Given the description of an element on the screen output the (x, y) to click on. 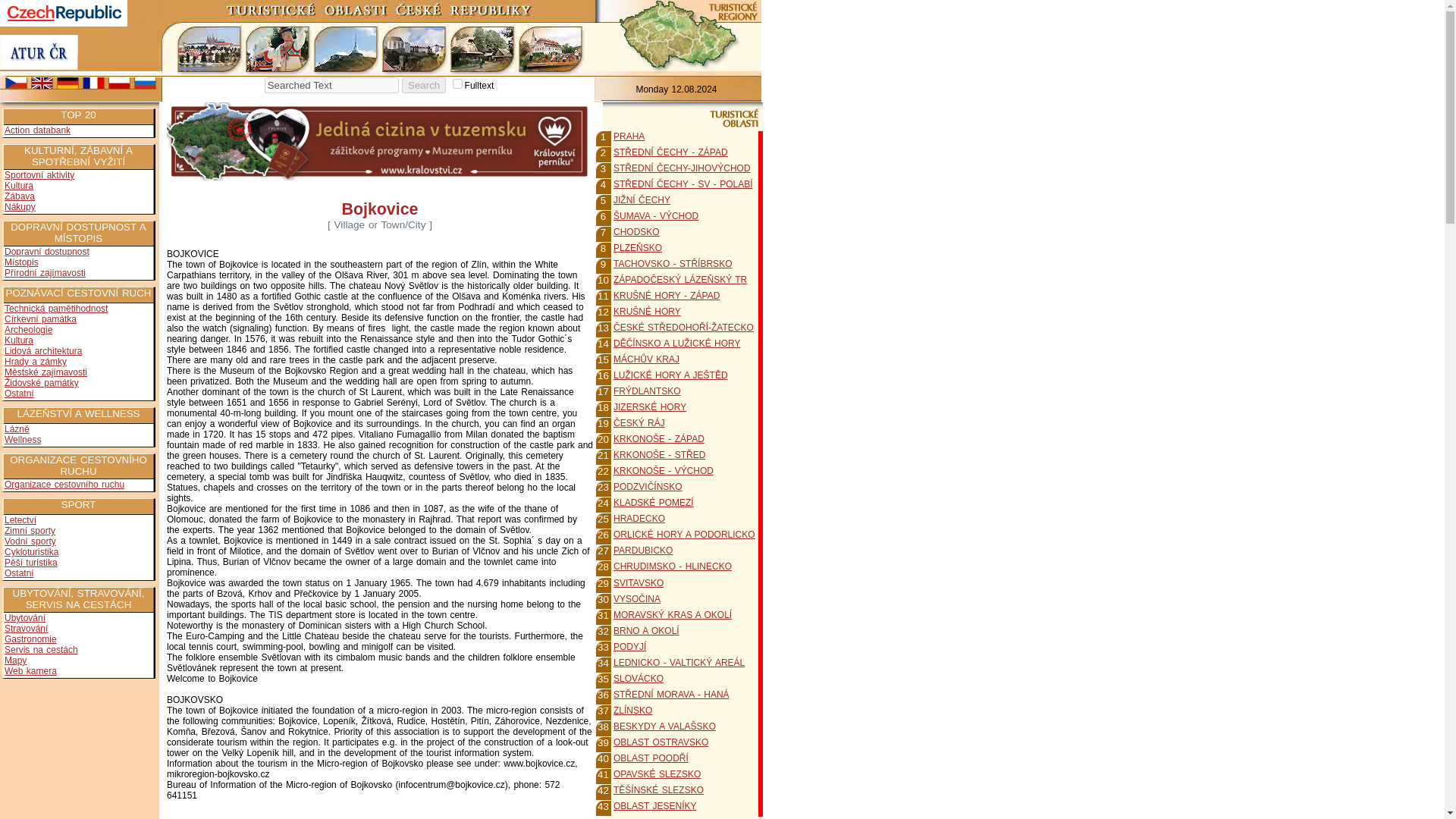
Search (423, 84)
Cykloturistika (31, 552)
Web kamera (30, 670)
Kultura (18, 185)
Kultura (18, 339)
Mapy (15, 660)
Archeologie (28, 329)
Wellness (22, 439)
Action databank (36, 130)
Gastronomie (30, 638)
